Given the description of an element on the screen output the (x, y) to click on. 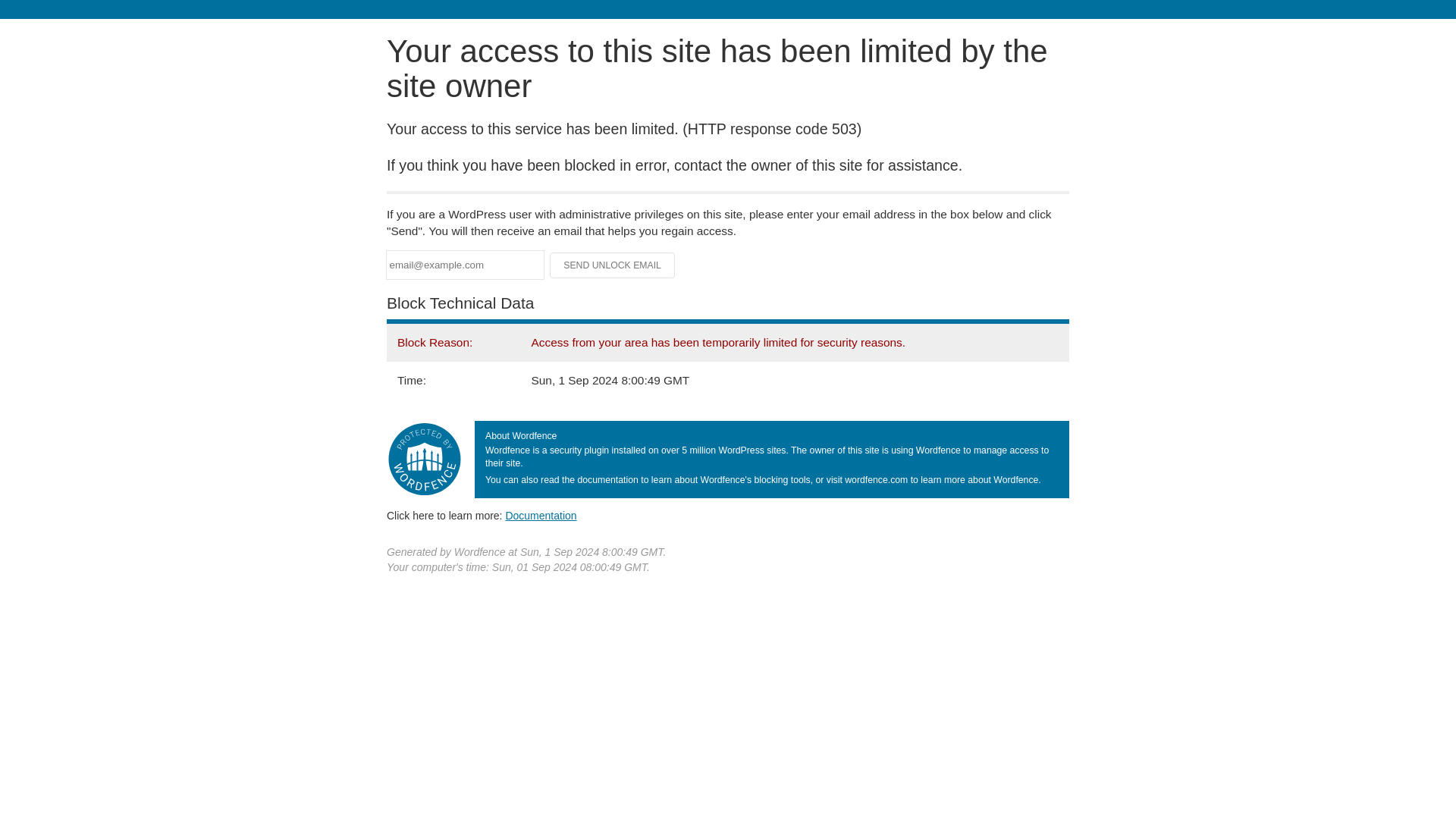
Send Unlock Email (612, 265)
Send Unlock Email (612, 265)
Documentation (540, 515)
